Given the description of an element on the screen output the (x, y) to click on. 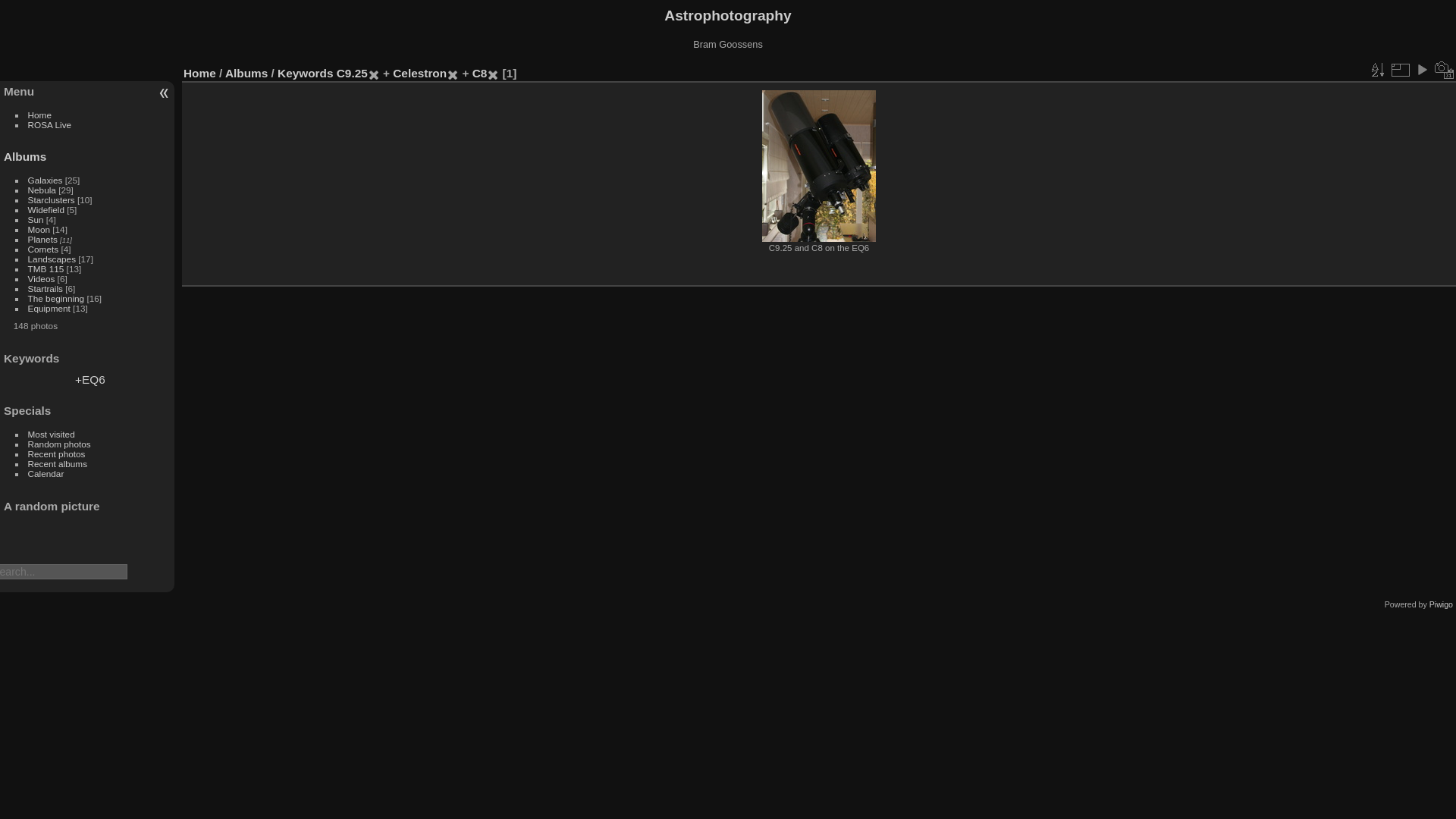
Starclusters Element type: text (51, 199)
Photo sizes Element type: hover (1399, 69)
The beginning Element type: text (56, 298)
Celestron Element type: text (419, 72)
Startrails Element type: text (45, 288)
Nebula Element type: text (42, 189)
Equipment Element type: text (49, 308)
Widefield Element type: text (46, 209)
Moon Element type: text (39, 229)
Albums Element type: text (24, 156)
Home Element type: text (199, 72)
Planets Element type: text (42, 239)
ROSA Live Element type: text (50, 124)
Albums Element type: text (246, 72)
Recent albums Element type: text (57, 463)
Galaxies Element type: text (45, 180)
Most visited Element type: text (51, 434)
remove this keyword from the list Element type: hover (452, 72)
remove this keyword from the list Element type: hover (492, 72)
C9.25 Element type: text (351, 72)
C8 Element type: text (479, 72)
Random photos Element type: text (59, 443)
+EQ6 Element type: text (90, 379)
Videos Element type: text (41, 278)
TMB 115 Element type: text (46, 268)
display a calendar by creation date Element type: hover (1444, 69)
slideshow Element type: hover (1421, 69)
remove this keyword from the list Element type: hover (373, 72)
Recent photos Element type: text (56, 453)
Piwigo Element type: text (1440, 603)
Sun Element type: text (35, 219)
C9.25 and C8 on the EQ6 (23066 visits) Element type: hover (818, 165)
Comets Element type: text (43, 249)
Calendar Element type: text (46, 473)
Sort order Element type: hover (1376, 69)
Home Element type: text (39, 114)
Landscapes Element type: text (51, 258)
Keywords Element type: text (304, 72)
